Given the description of an element on the screen output the (x, y) to click on. 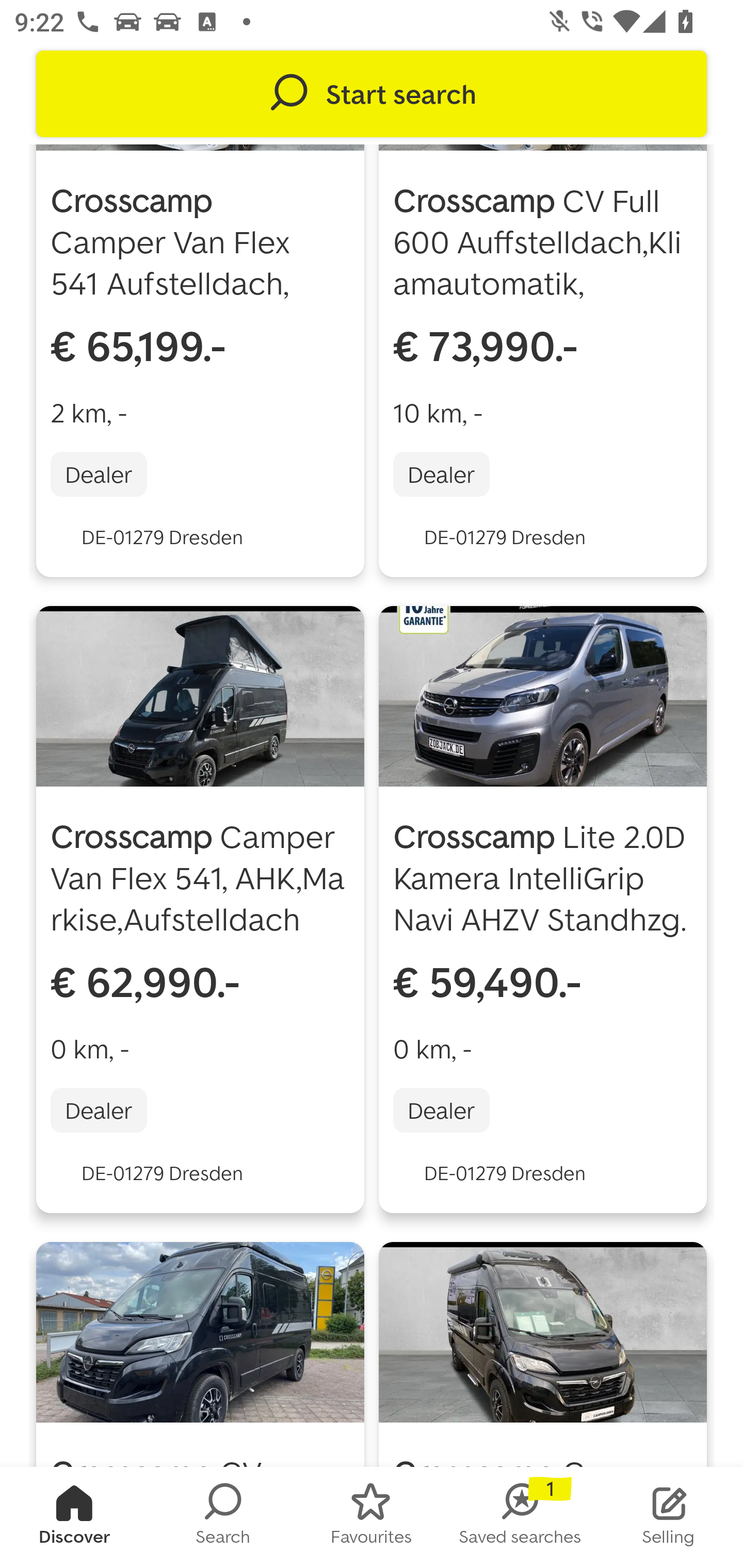
Start search (371, 93)
HOMESCREEN Discover (74, 1517)
SEARCH Search (222, 1517)
FAVORITES Favourites (371, 1517)
SAVED_SEARCHES Saved searches 1 (519, 1517)
STOCK_LIST Selling (668, 1517)
